Given the description of an element on the screen output the (x, y) to click on. 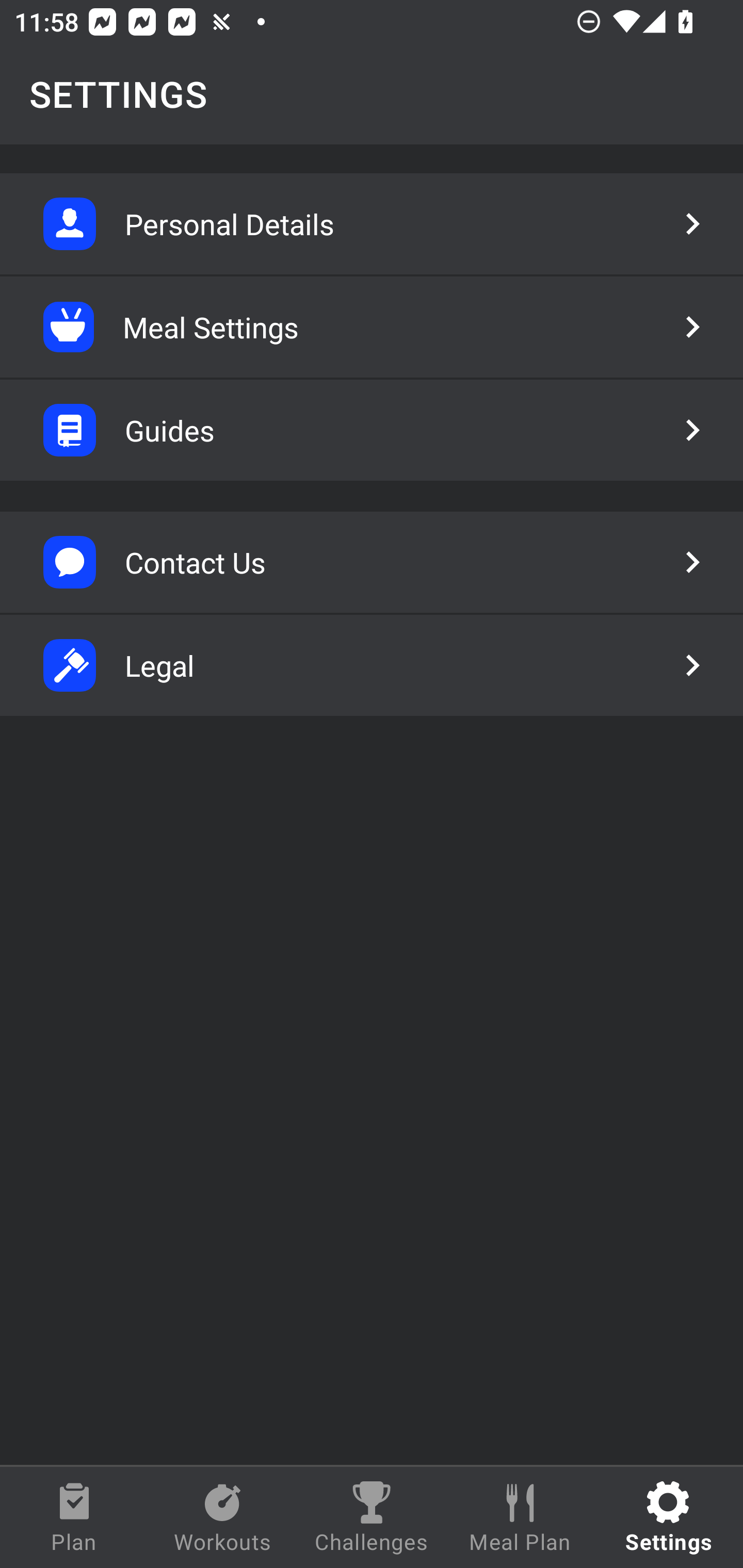
Personal Details (371, 224)
Meal Settings (371, 326)
Guides (371, 430)
Contact Us (371, 562)
Legal (371, 665)
 Plan  (74, 1517)
 Workouts  (222, 1517)
 Challenges  (371, 1517)
 Meal Plan  (519, 1517)
